Given the description of an element on the screen output the (x, y) to click on. 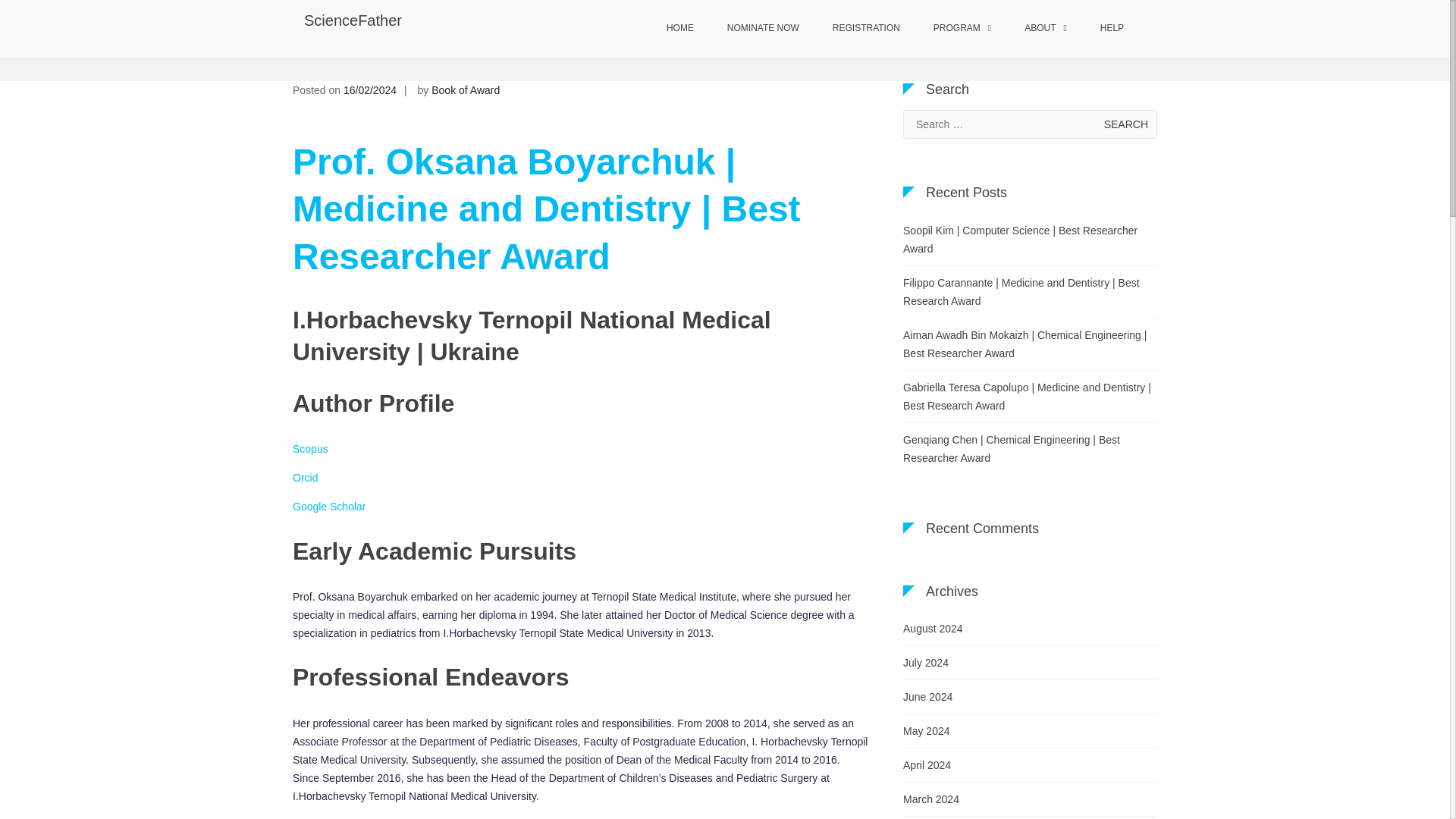
Search (1125, 123)
Home (681, 51)
Orcid (304, 477)
Book of Award (464, 90)
Search (1125, 123)
Posts (720, 51)
HELP (1111, 28)
HOME (679, 28)
PROGRAM (962, 28)
Uncategorised (778, 51)
REGISTRATION (865, 28)
NOMINATE NOW (762, 28)
Posts (720, 51)
ScienceFather (352, 20)
Scopus (310, 449)
